Given the description of an element on the screen output the (x, y) to click on. 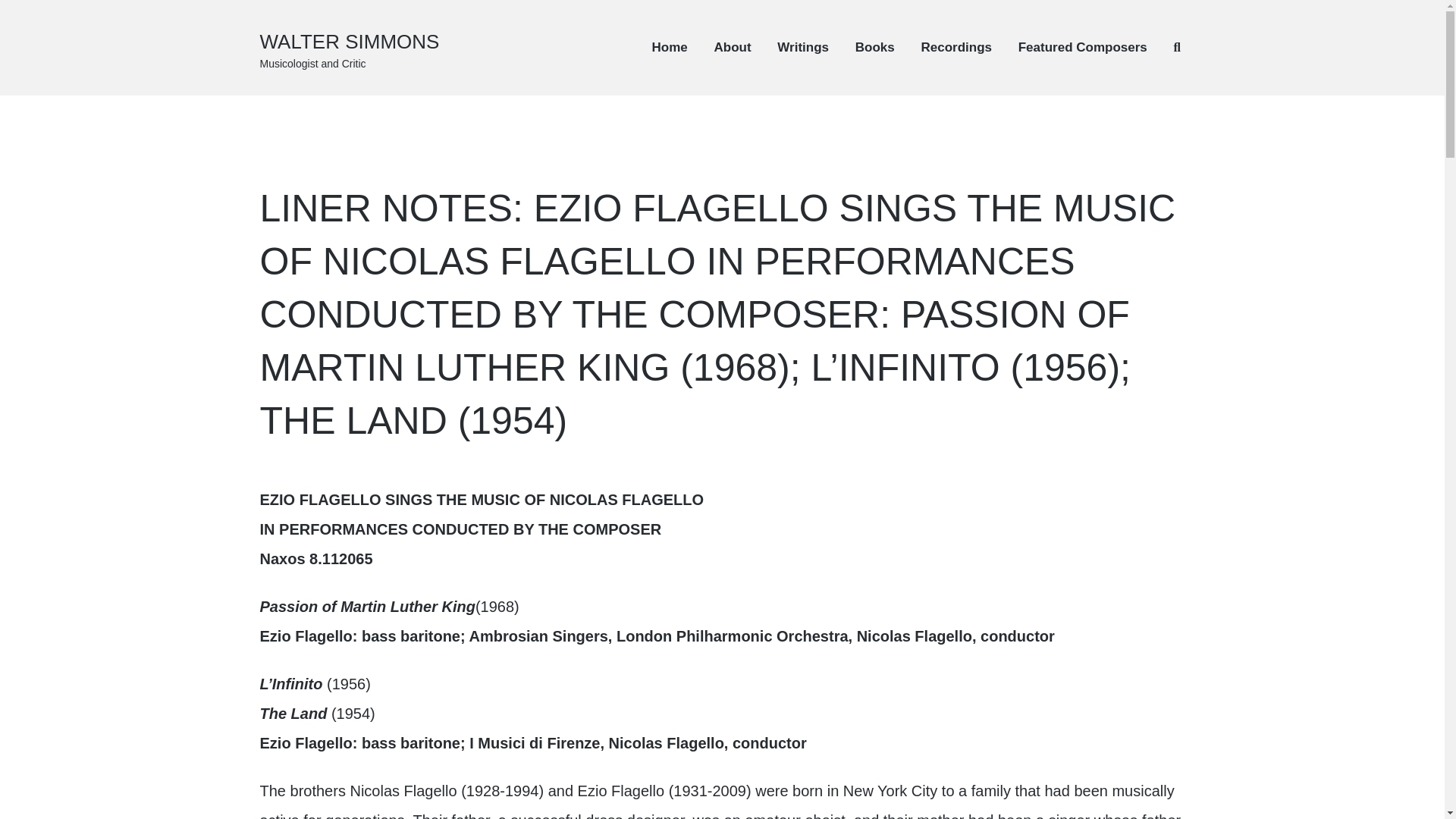
Writings (802, 47)
Home (669, 47)
WALTER SIMMONS (349, 41)
Recordings (955, 47)
About (732, 47)
Featured Composers (1082, 47)
Books (875, 47)
